Given the description of an element on the screen output the (x, y) to click on. 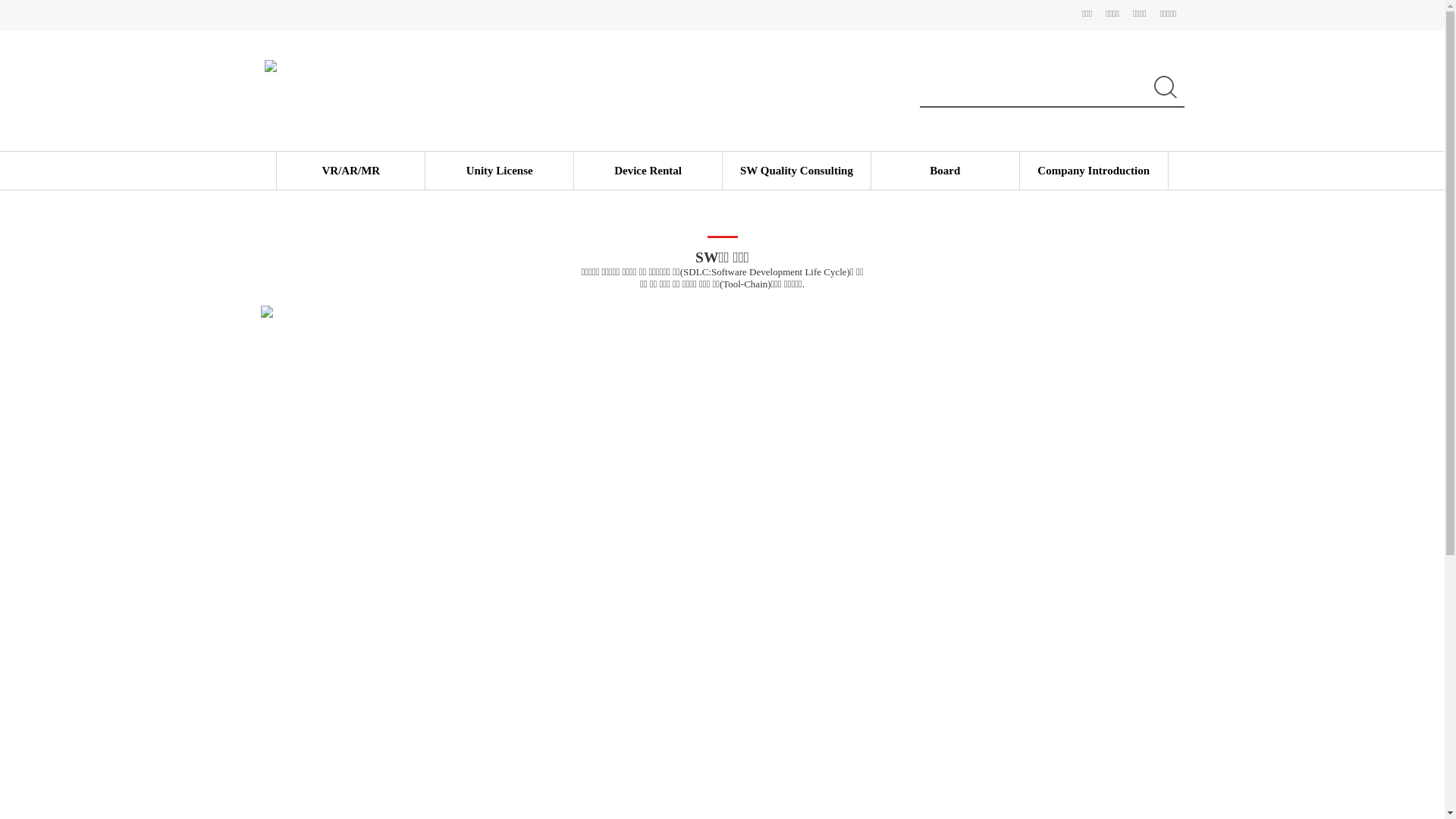
Device Rental Element type: text (647, 170)
SW Quality Consulting Element type: text (796, 170)
Board Element type: text (944, 170)
VR/AR/MR Element type: text (350, 170)
Unity License Element type: text (499, 170)
Company Introduction Element type: text (1093, 170)
